Given the description of an element on the screen output the (x, y) to click on. 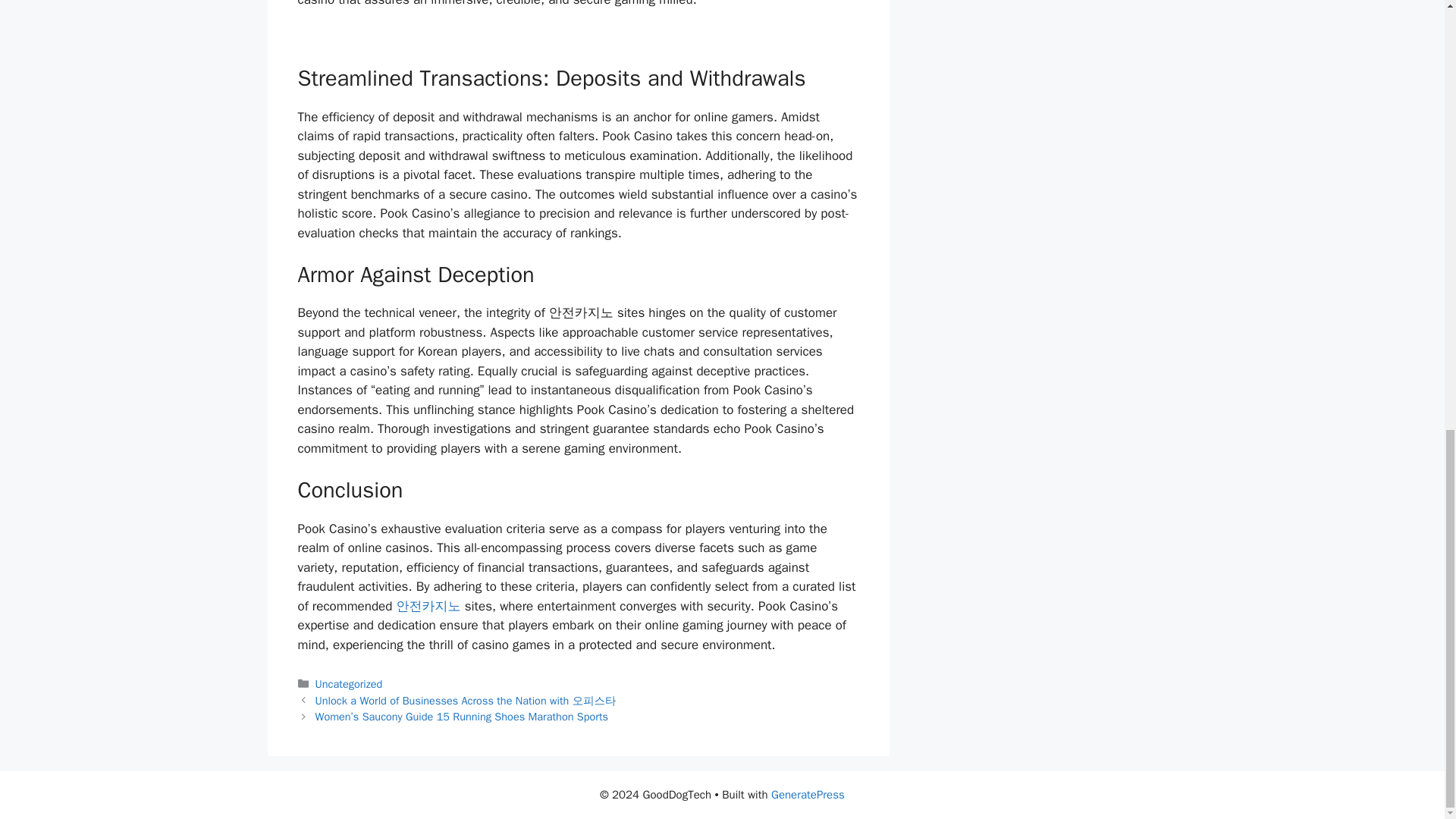
Uncategorized (348, 684)
GeneratePress (807, 794)
